Given the description of an element on the screen output the (x, y) to click on. 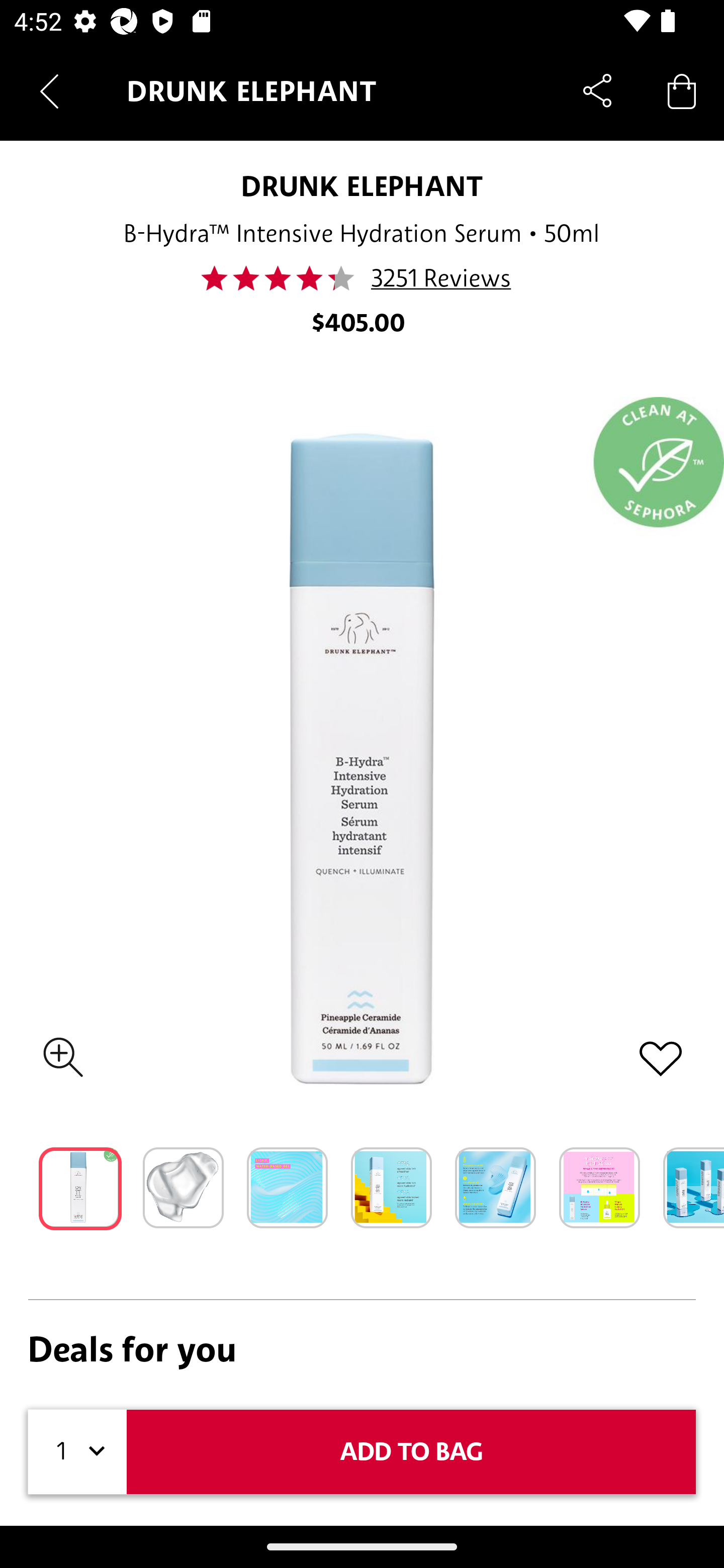
Navigate up (49, 91)
Share (597, 90)
Bag (681, 90)
DRUNK ELEPHANT (361, 186)
43.0 3251 Reviews (361, 278)
1 (77, 1451)
ADD TO BAG (410, 1451)
